Given the description of an element on the screen output the (x, y) to click on. 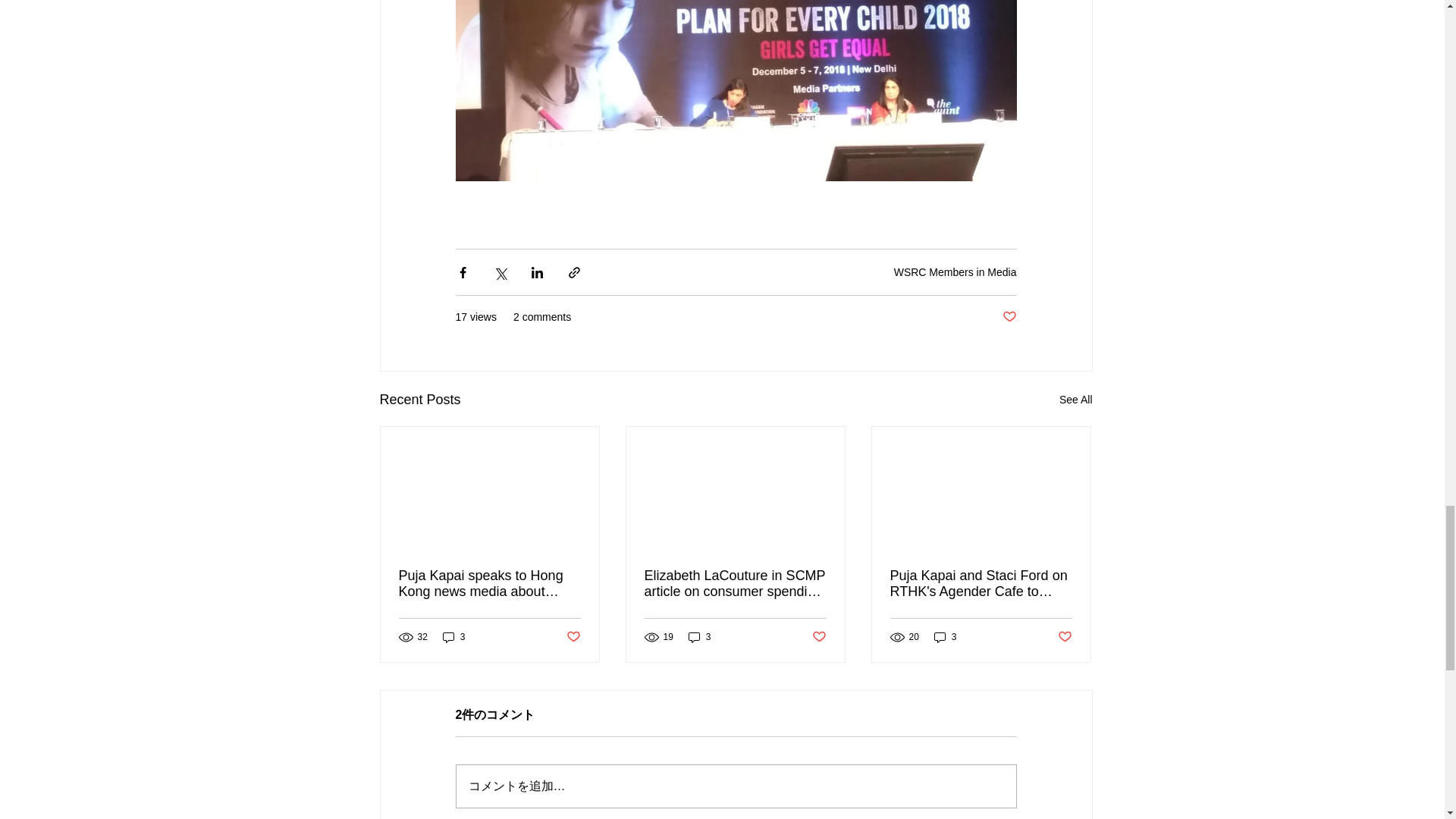
WSRC Members in Media (954, 272)
3 (454, 636)
3 (700, 636)
Post not marked as liked (1009, 317)
Post not marked as liked (817, 637)
See All (1076, 400)
Post not marked as liked (572, 637)
